Given the description of an element on the screen output the (x, y) to click on. 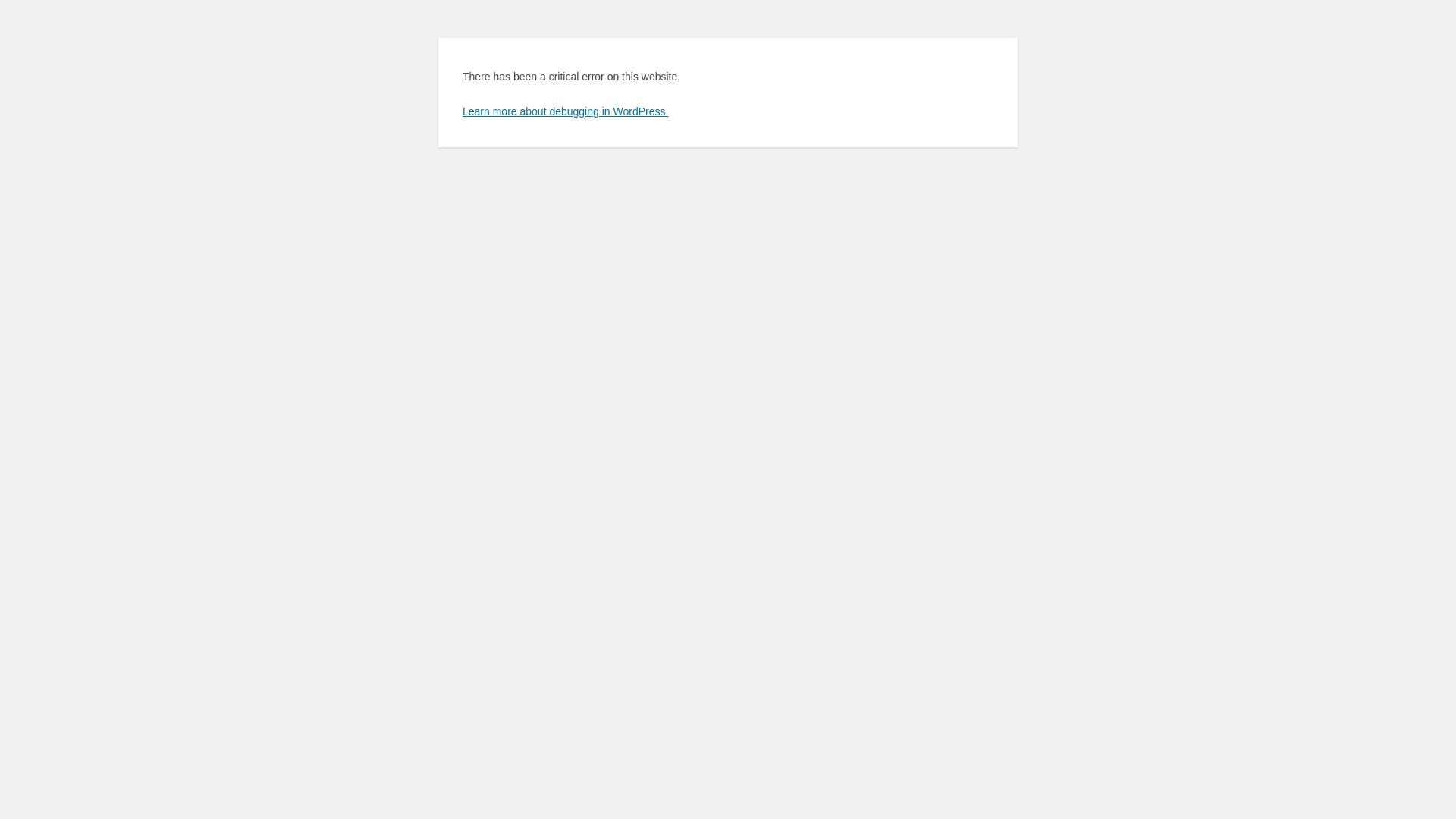
Learn more about debugging in WordPress. Element type: text (565, 111)
